Given the description of an element on the screen output the (x, y) to click on. 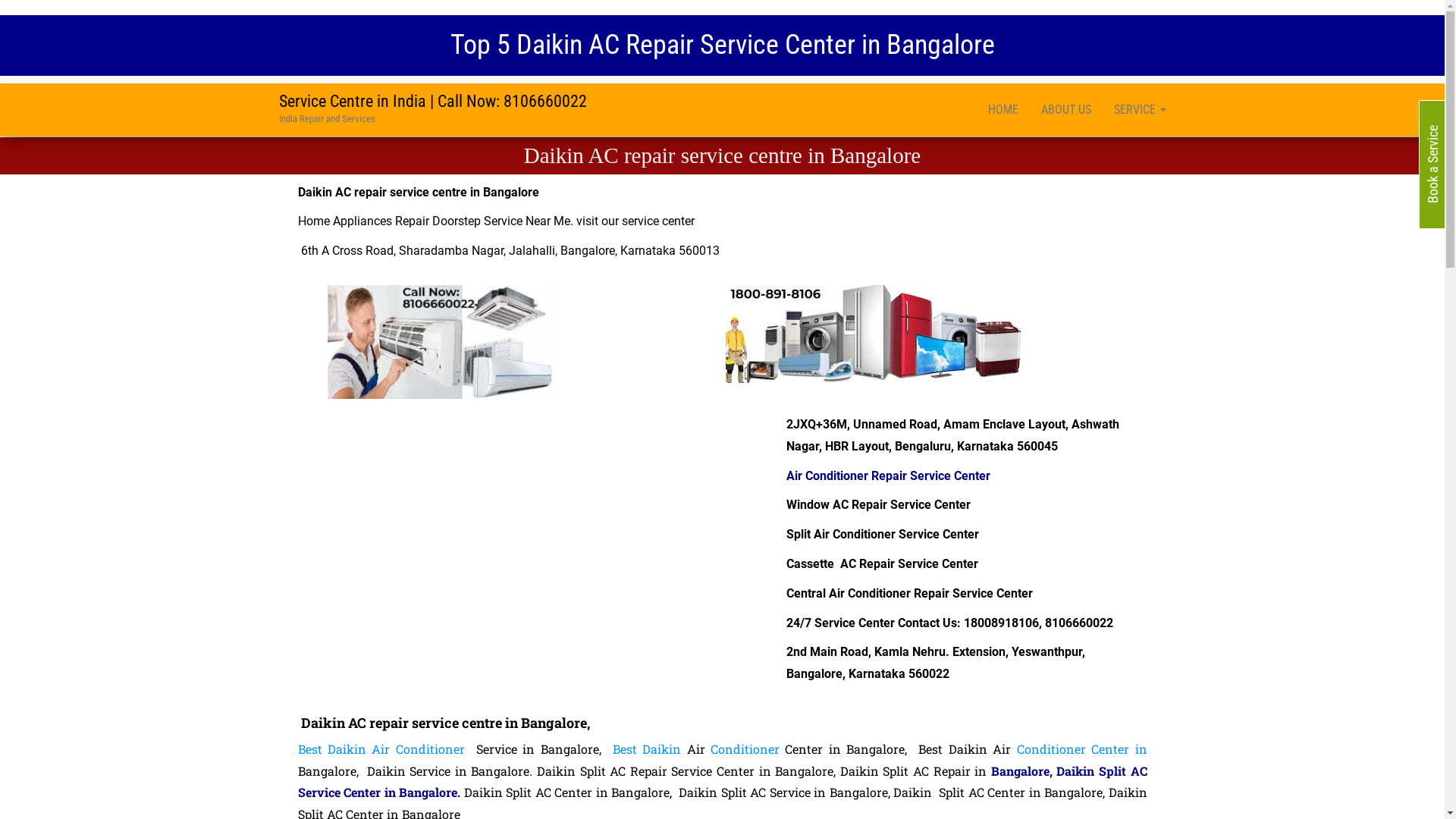
ABOUT US Element type: text (1065, 109)
Conditioner Center in Element type: text (1081, 748)
530068 Postal code in Bengaluru, Karnataka Element type: hover (533, 527)
SERVICE Element type: text (1139, 109)
HOME Element type: text (1002, 109)
visit our service center Element type: text (635, 220)
Home Element type: text (313, 220)
Best Daikin Air Conditioner Element type: text (380, 748)
Air Conditioner Repair Service Center  Element type: text (889, 475)
Bangalore, Daikin Split AC Service Center in Bangalore. Element type: text (721, 781)
Conditioner Element type: text (744, 748)
Best Daikin Element type: text (646, 748)
Service Centre in India | Call Now: 8106660022 Element type: text (432, 100)
